Given the description of an element on the screen output the (x, y) to click on. 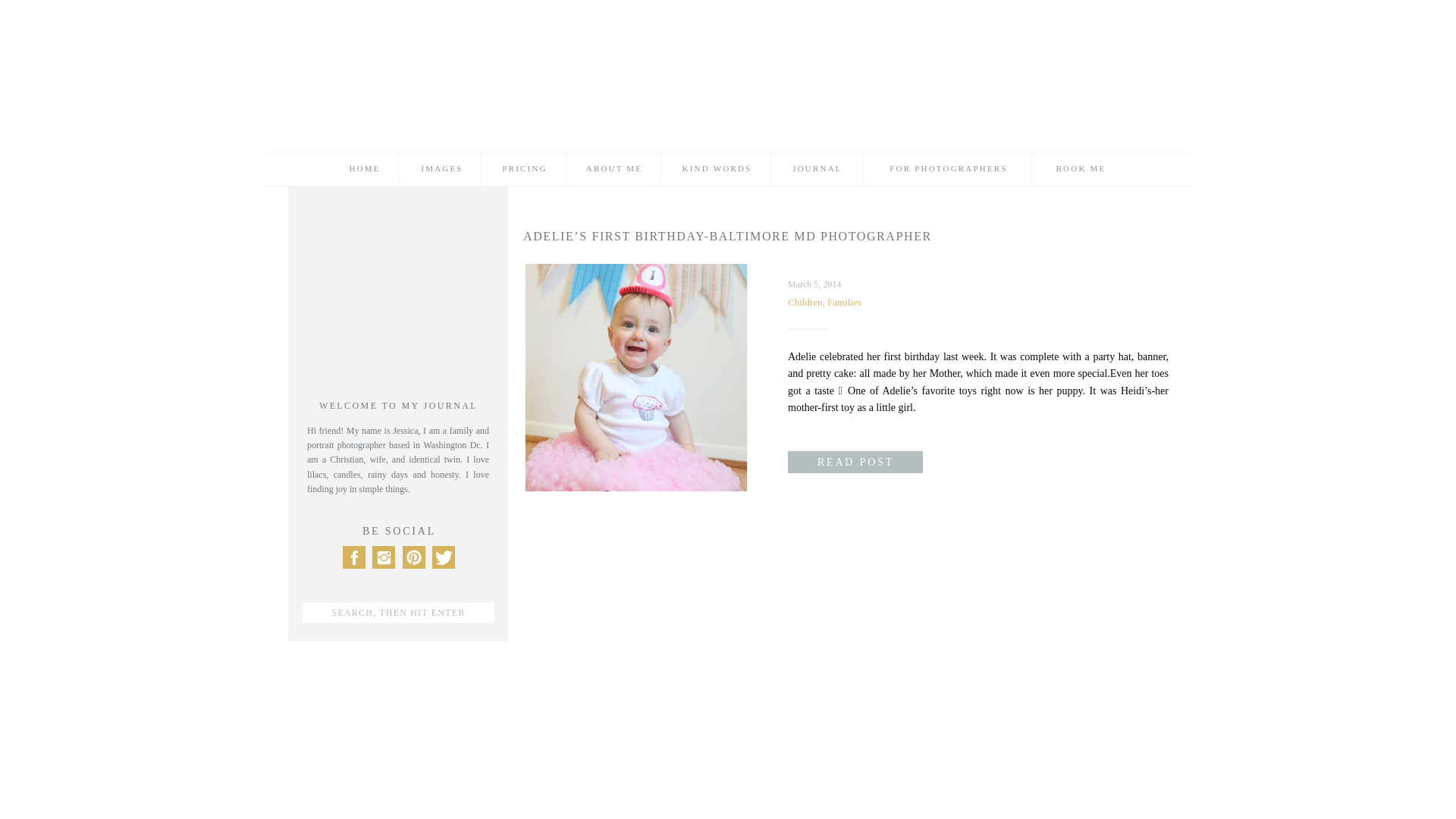
HOME (364, 169)
JOURNAL (817, 169)
Children (804, 301)
FOR PHOTOGRAPHERS (948, 169)
PRICING (524, 169)
READ POST (855, 462)
Families (844, 301)
BOOK ME (1080, 169)
KIND WORDS (717, 169)
IMAGES (441, 169)
ABOUT ME (613, 169)
